Given the description of an element on the screen output the (x, y) to click on. 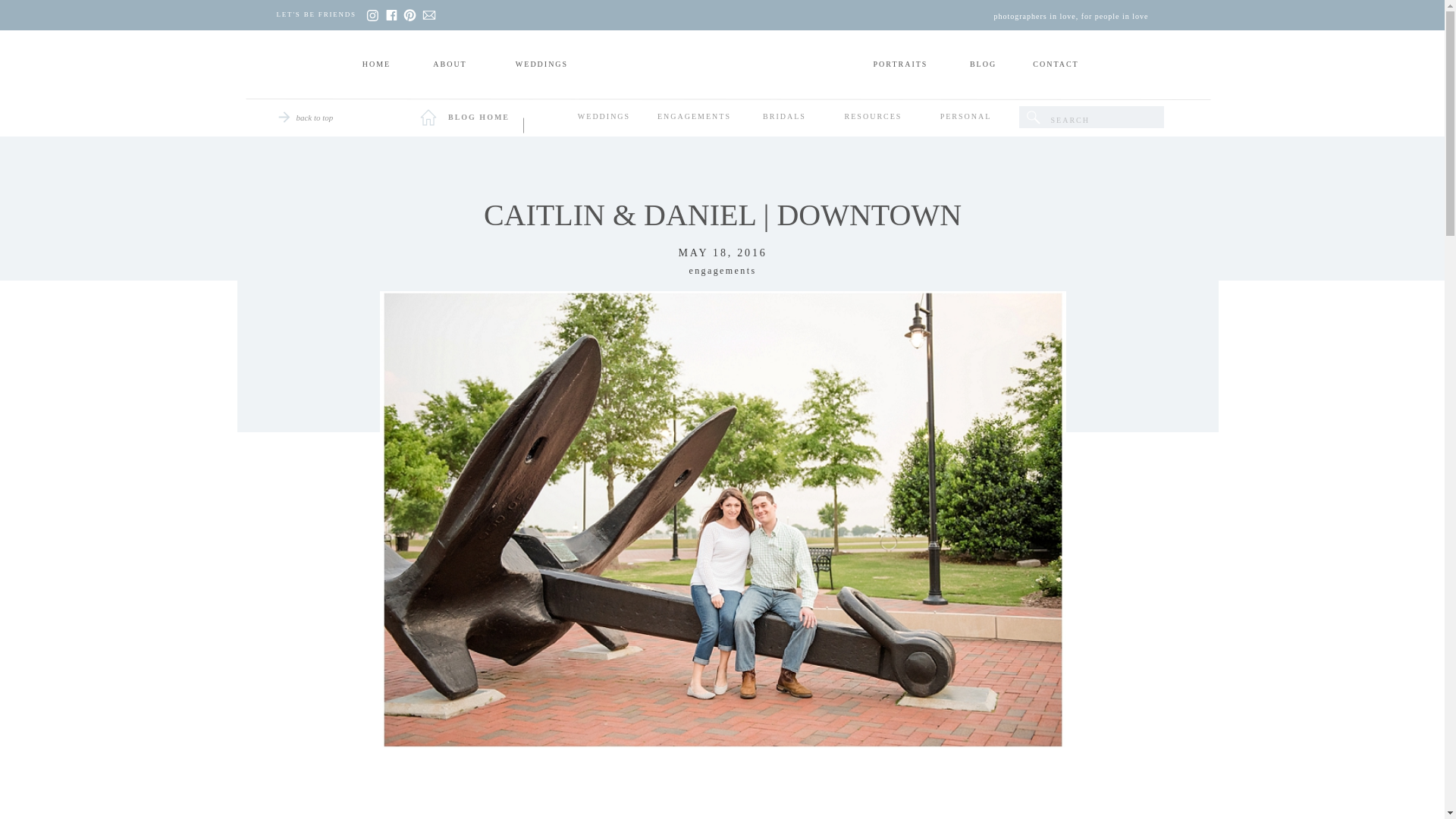
PORTRAITS (901, 65)
BLOG HOME (478, 119)
Instagram-color Created with Sketch. (371, 15)
RESOURCES (873, 118)
HOME (375, 65)
engagements (721, 270)
 back to top (312, 119)
PERSONAL (965, 118)
Facebook Copy-color Created with Sketch. (390, 15)
LET'S BE FRIENDS (320, 15)
